Given the description of an element on the screen output the (x, y) to click on. 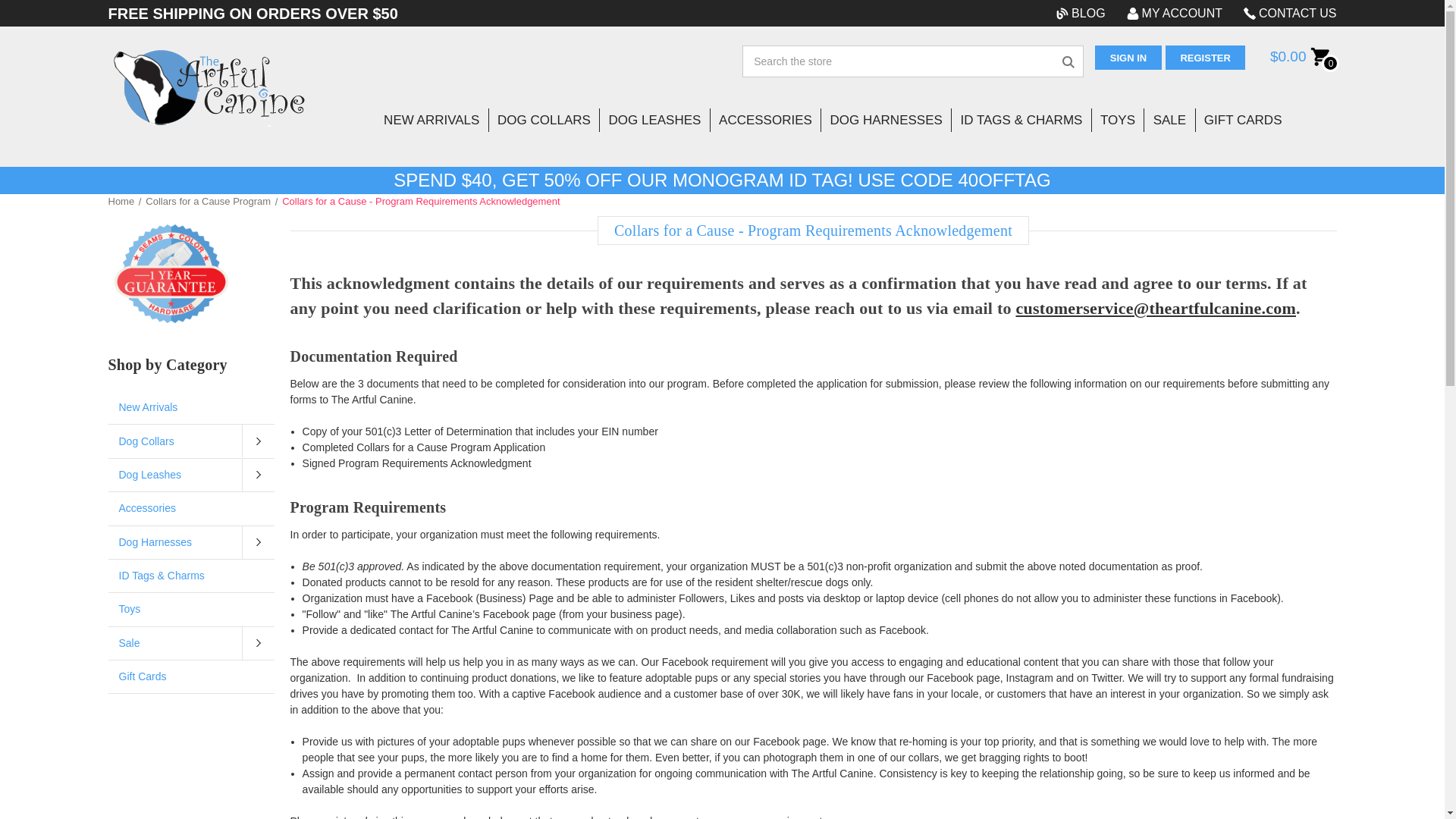
BLOG (1080, 13)
Accounts (1174, 13)
SIGN IN (1127, 57)
NEW ARRIVALS (432, 119)
CONTACT US (1284, 13)
Contact Us (1284, 13)
The Artful Canine (209, 87)
DOG COLLARS (544, 119)
Blog (1080, 13)
MY ACCOUNT (1174, 13)
REGISTER (1206, 57)
